Given the description of an element on the screen output the (x, y) to click on. 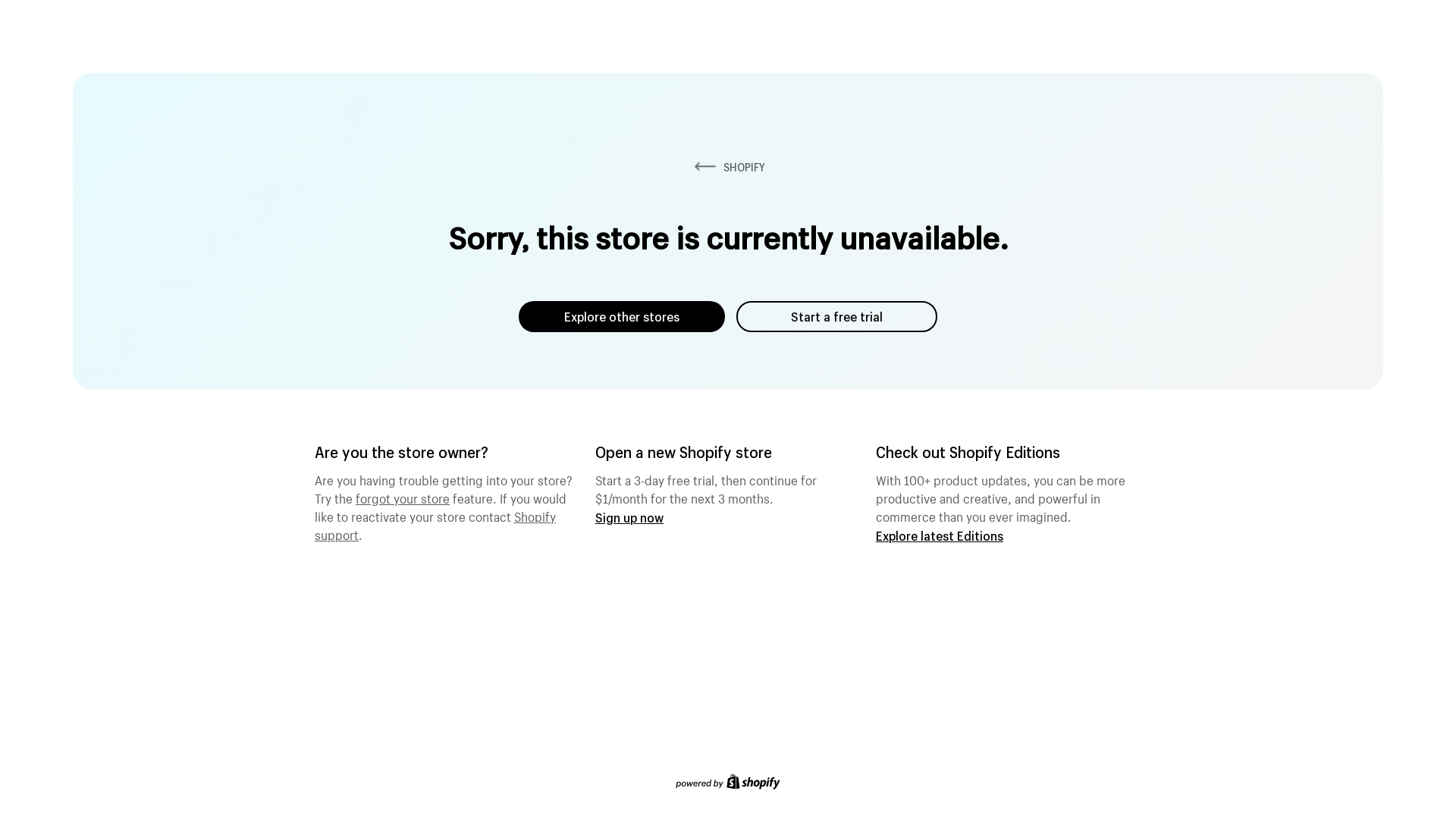
Explore other stores Element type: text (621, 316)
Start a free trial Element type: text (836, 316)
Explore latest Editions Element type: text (939, 535)
forgot your store Element type: text (402, 496)
Shopify support Element type: text (434, 523)
Sign up now Element type: text (629, 517)
SHOPIFY Element type: text (727, 167)
